Given the description of an element on the screen output the (x, y) to click on. 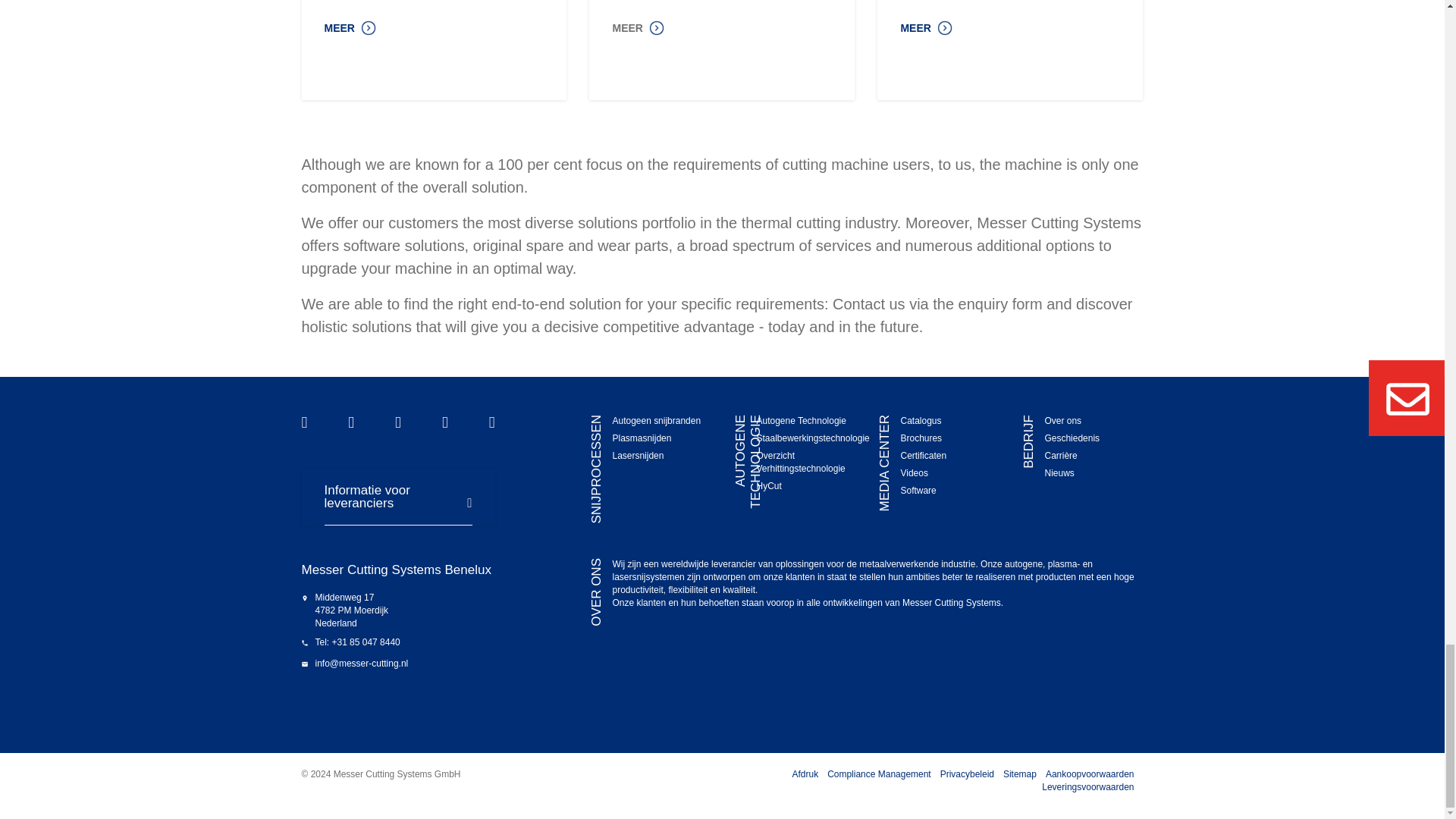
LinkedIn (397, 422)
Facebook (304, 422)
Xing (445, 422)
Youtube (350, 422)
Catalogus (919, 420)
MEER   (349, 26)
Autogene Technologie (800, 420)
Lasersnijden (637, 455)
Autogeen snijbranden (655, 420)
Informatie voor leveranciers (397, 496)
Overzicht Verhittingstechnologie (799, 462)
MEER   (925, 26)
HyCut (767, 485)
Plasmasnijden (641, 438)
Staalbewerkingstechnologie (812, 438)
